Given the description of an element on the screen output the (x, y) to click on. 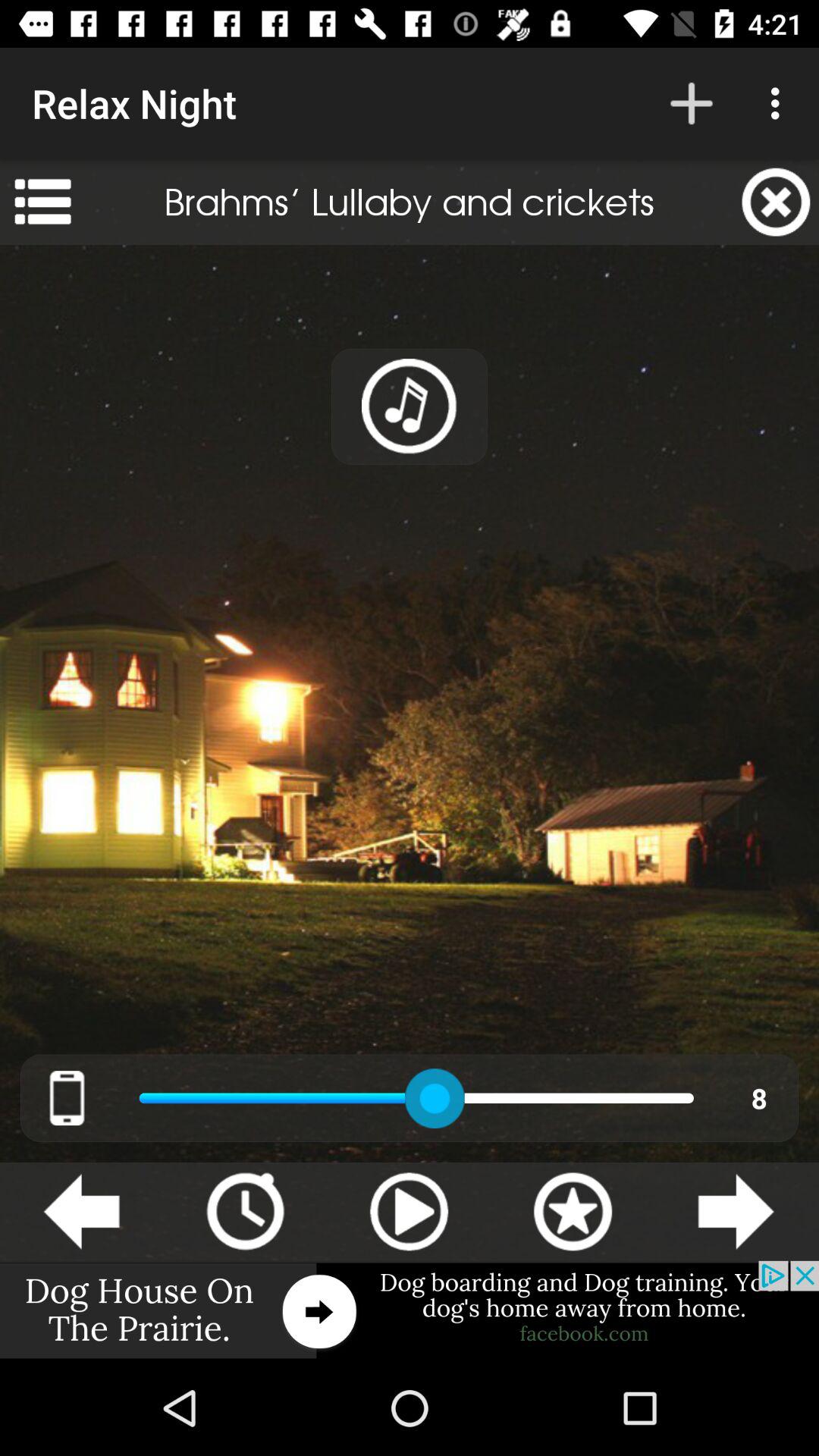
open the app to the right of brahms lullaby and app (776, 202)
